Given the description of an element on the screen output the (x, y) to click on. 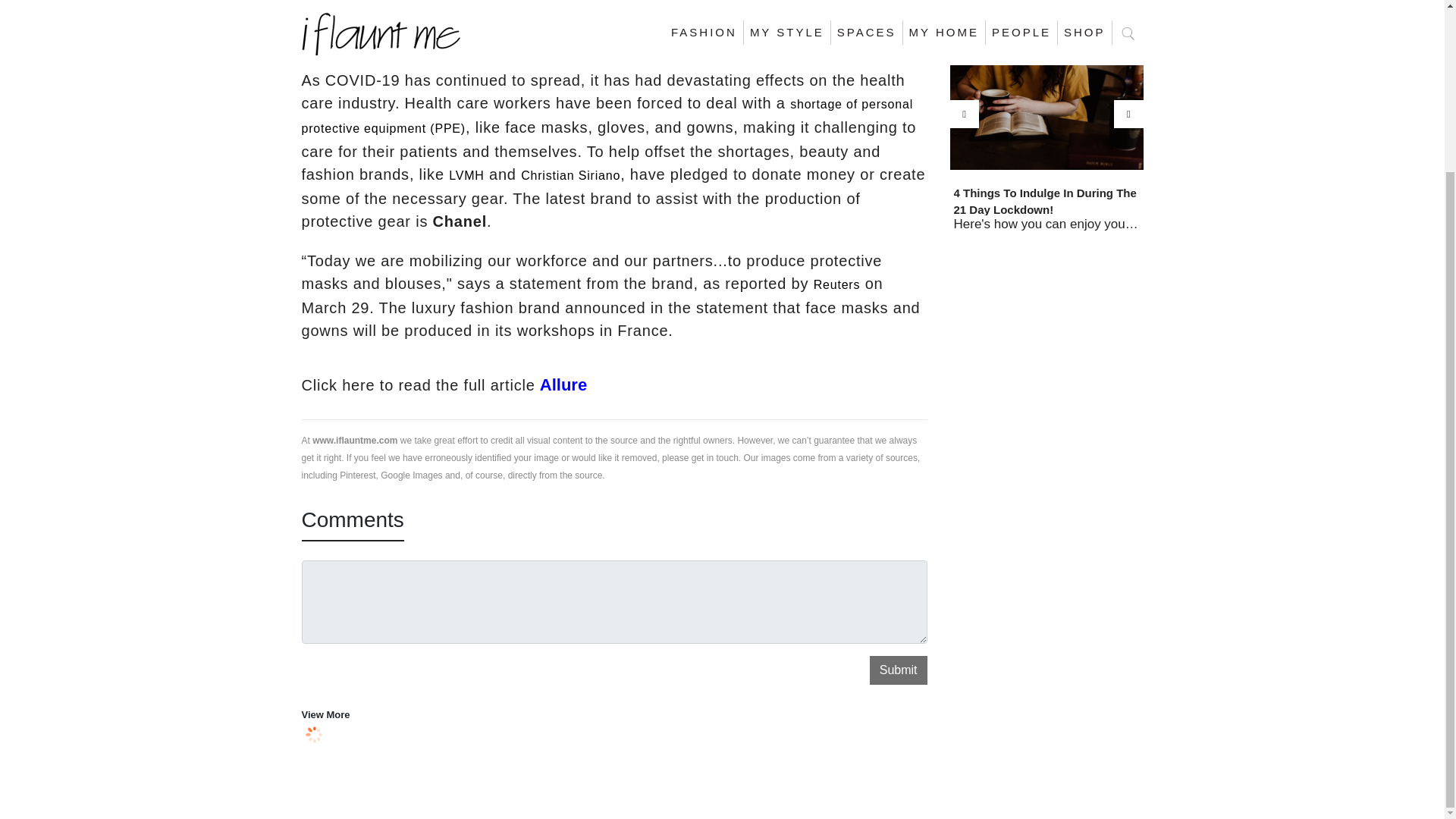
View More (325, 714)
Christian Siriano (570, 174)
Allure (560, 384)
www.iflauntme.com (355, 439)
LVMH (465, 174)
Reuters (836, 284)
4 Things To Indulge In During The 21 Day Lockdown! (1046, 200)
Gabi Thorne (369, 40)
Submit (898, 670)
